Given the description of an element on the screen output the (x, y) to click on. 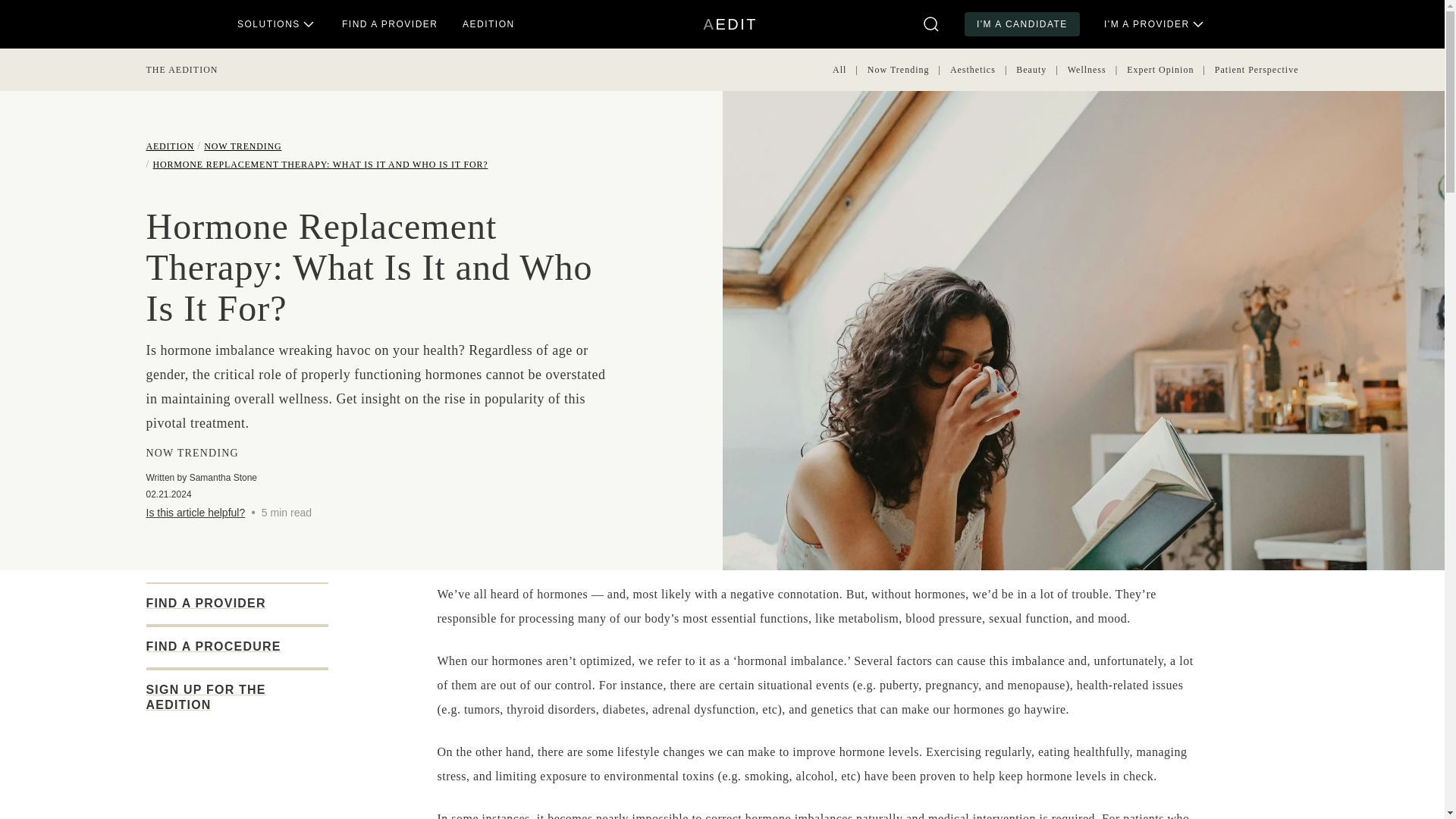
Expert Opinion (1159, 69)
AEDITION (169, 146)
Patient Perspective (1256, 69)
Wellness (1086, 69)
I'M A CANDIDATE (1021, 24)
NOW TRENDING (730, 24)
All (242, 146)
HORMONE REPLACEMENT THERAPY: WHAT IS IT AND WHO IS IT FOR? (838, 69)
FIND A PROVIDER (319, 164)
Beauty (390, 24)
Now Trending (1031, 69)
Advertisement (898, 69)
Aesthetics (236, 772)
AEDITION (972, 69)
